Given the description of an element on the screen output the (x, y) to click on. 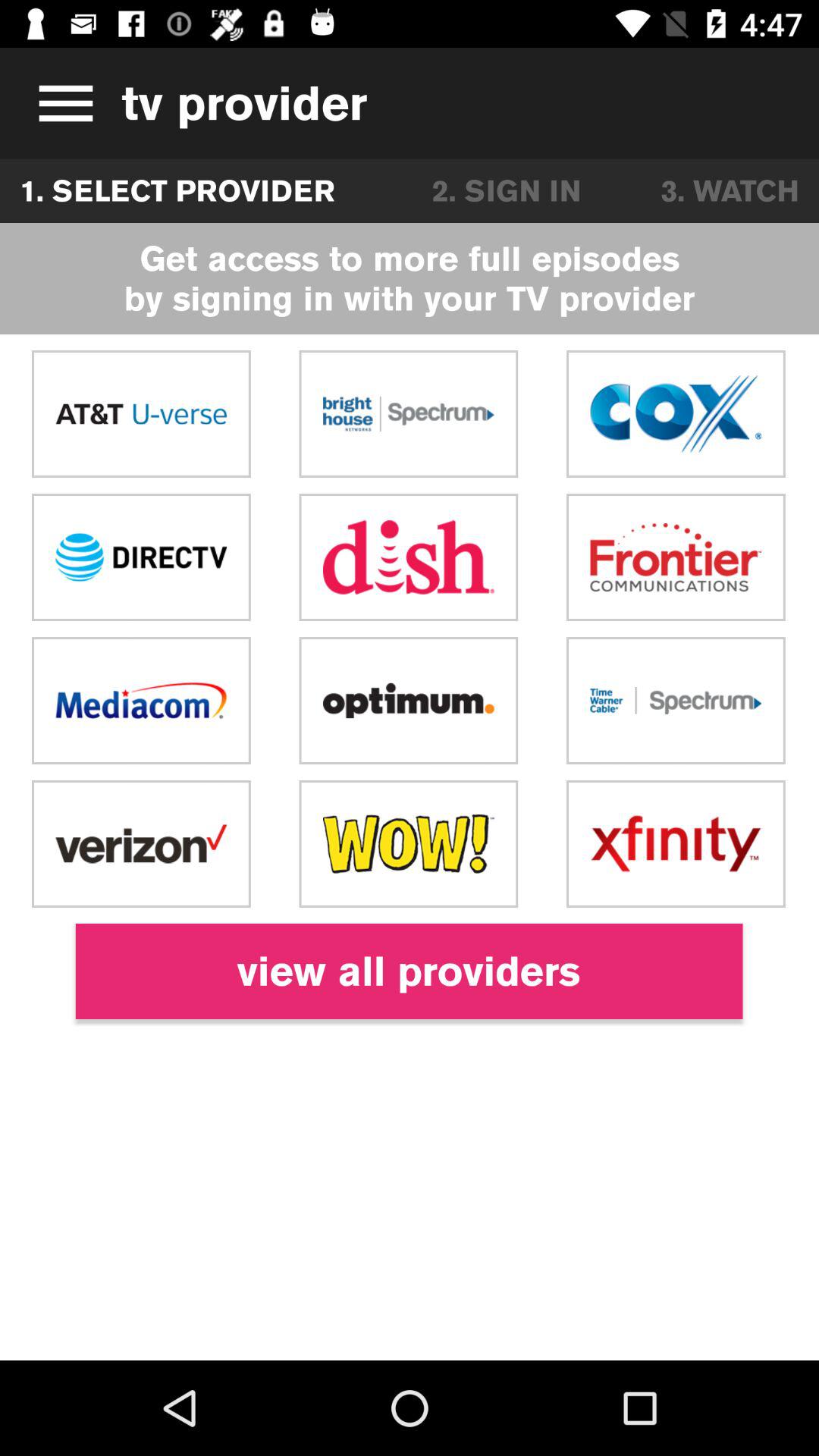
select item to the left of the tv provider icon (60, 103)
